Given the description of an element on the screen output the (x, y) to click on. 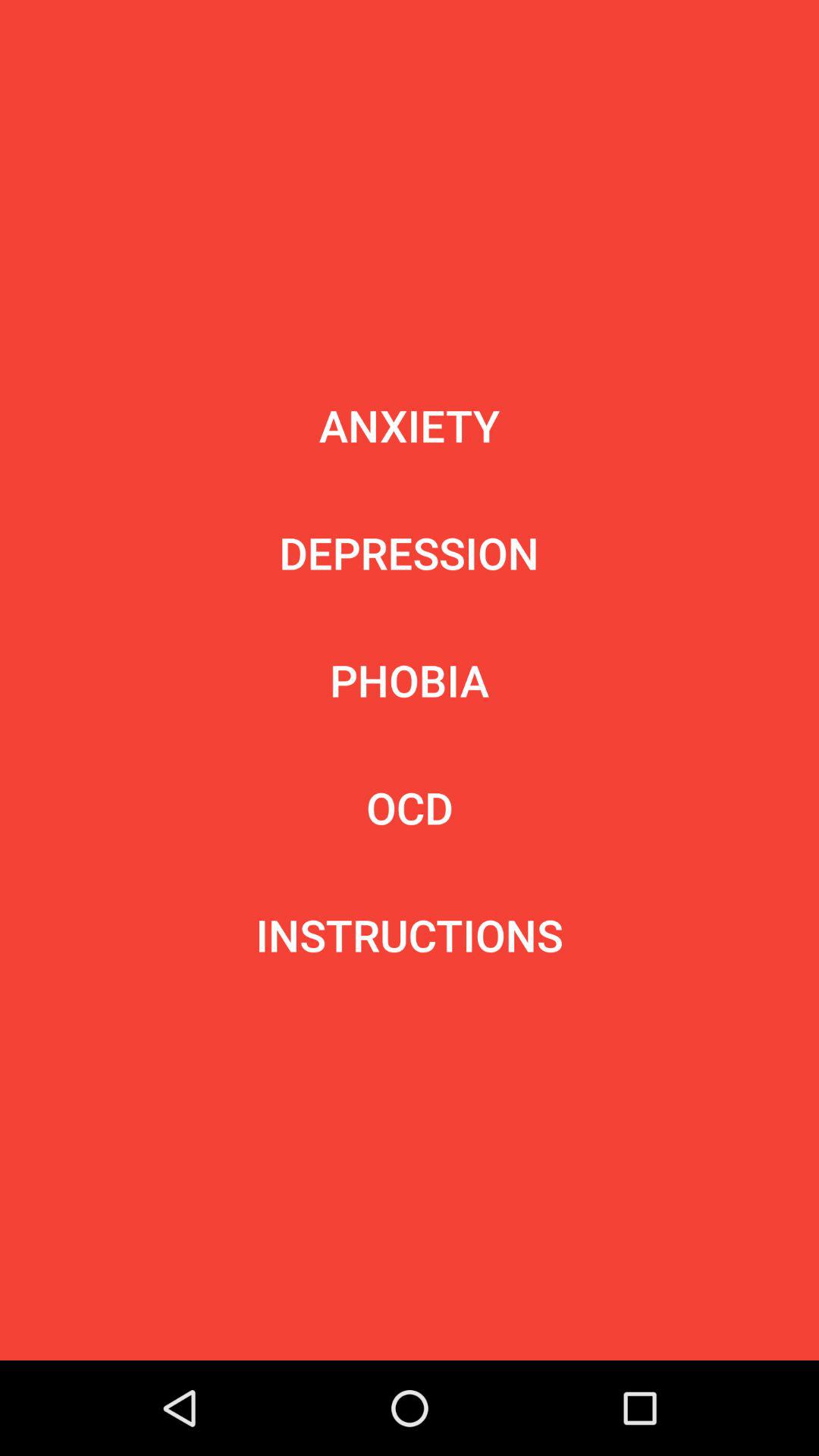
tap the depression icon (409, 552)
